Given the description of an element on the screen output the (x, y) to click on. 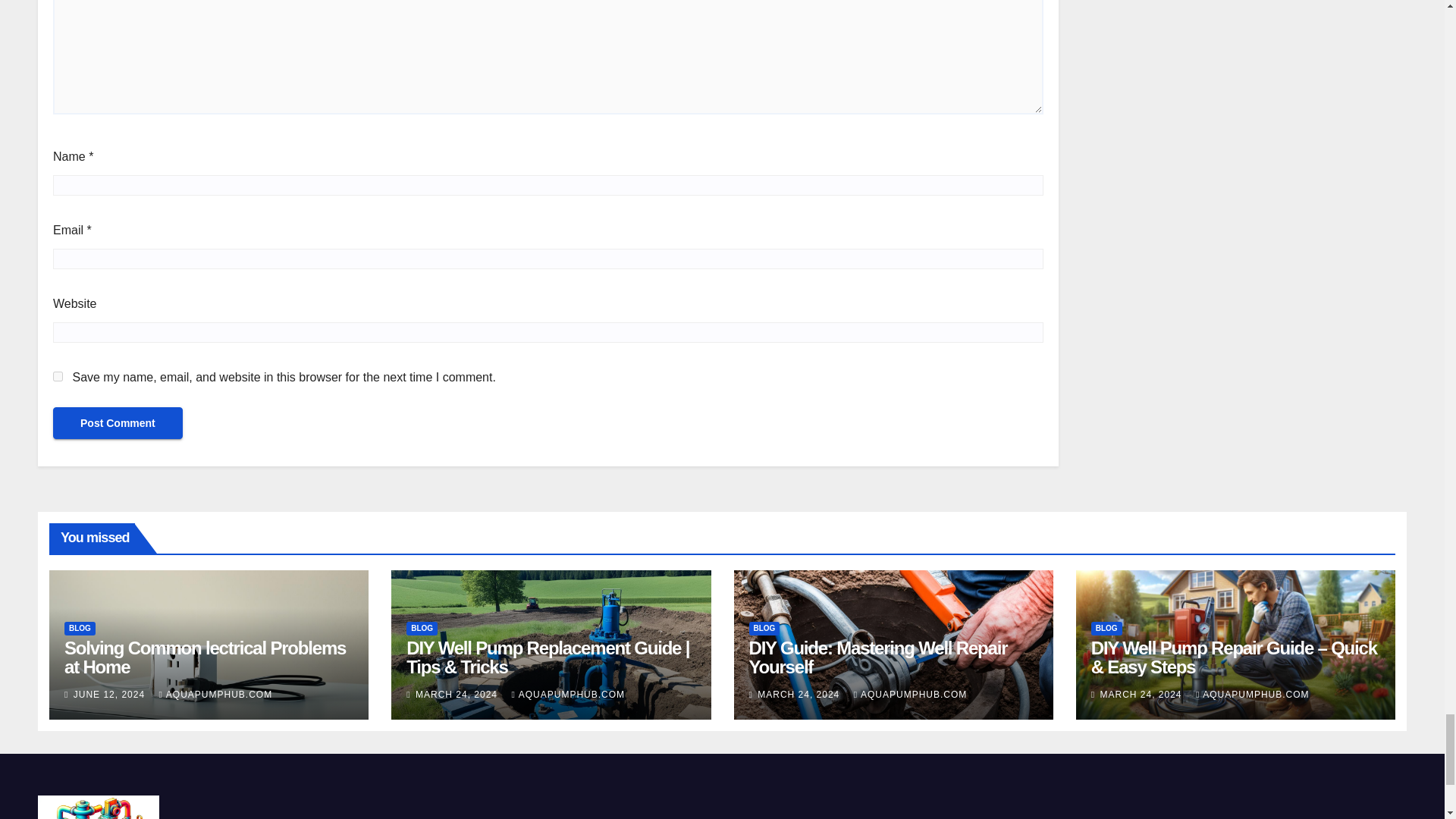
yes (57, 376)
Post Comment (117, 422)
